Given the description of an element on the screen output the (x, y) to click on. 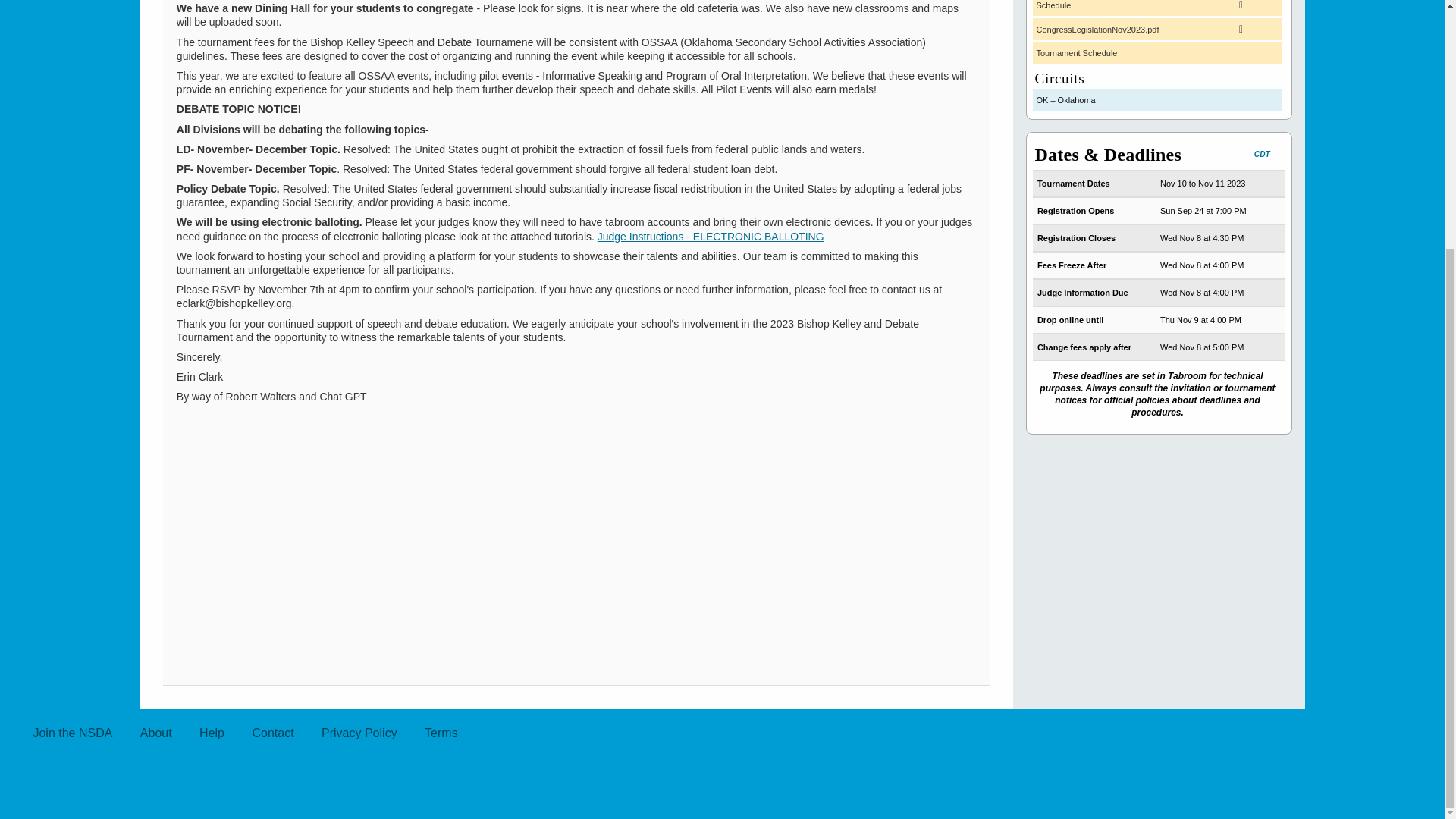
Judge Instructions - ELECTRONIC BALLOTING (710, 236)
Privacy Policy (358, 732)
Contact (272, 732)
About (156, 732)
Terms (441, 732)
Help (211, 732)
Oklahoma (1157, 99)
CongressLegislationNov2023.pdf (1157, 29)
Join the NSDA (71, 732)
Tournament Schedule (1157, 52)
Schedule (1157, 7)
